Given the description of an element on the screen output the (x, y) to click on. 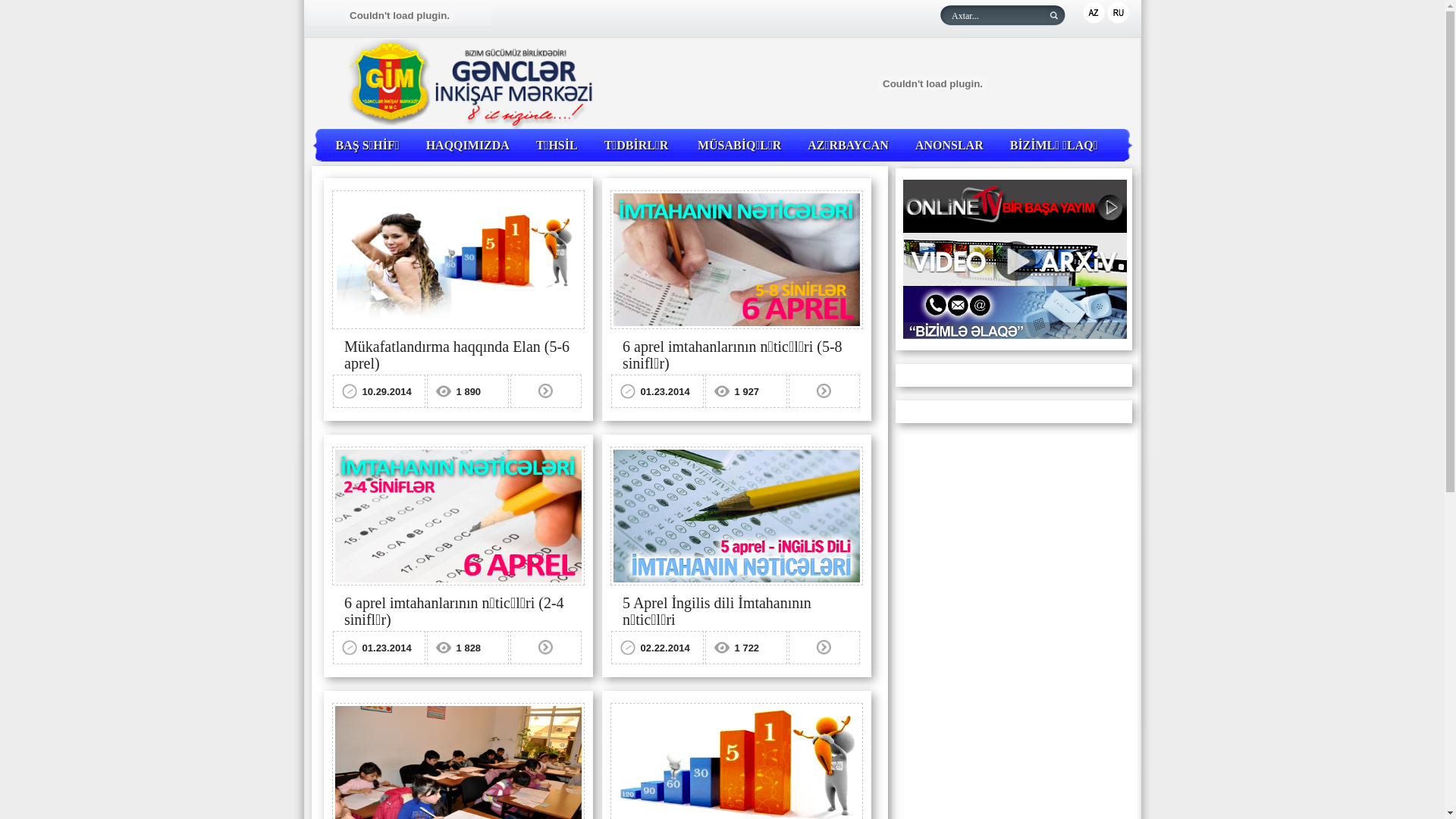
HAQQIMIZDA Element type: text (467, 145)
ANONSLAR Element type: text (949, 145)
